Given the description of an element on the screen output the (x, y) to click on. 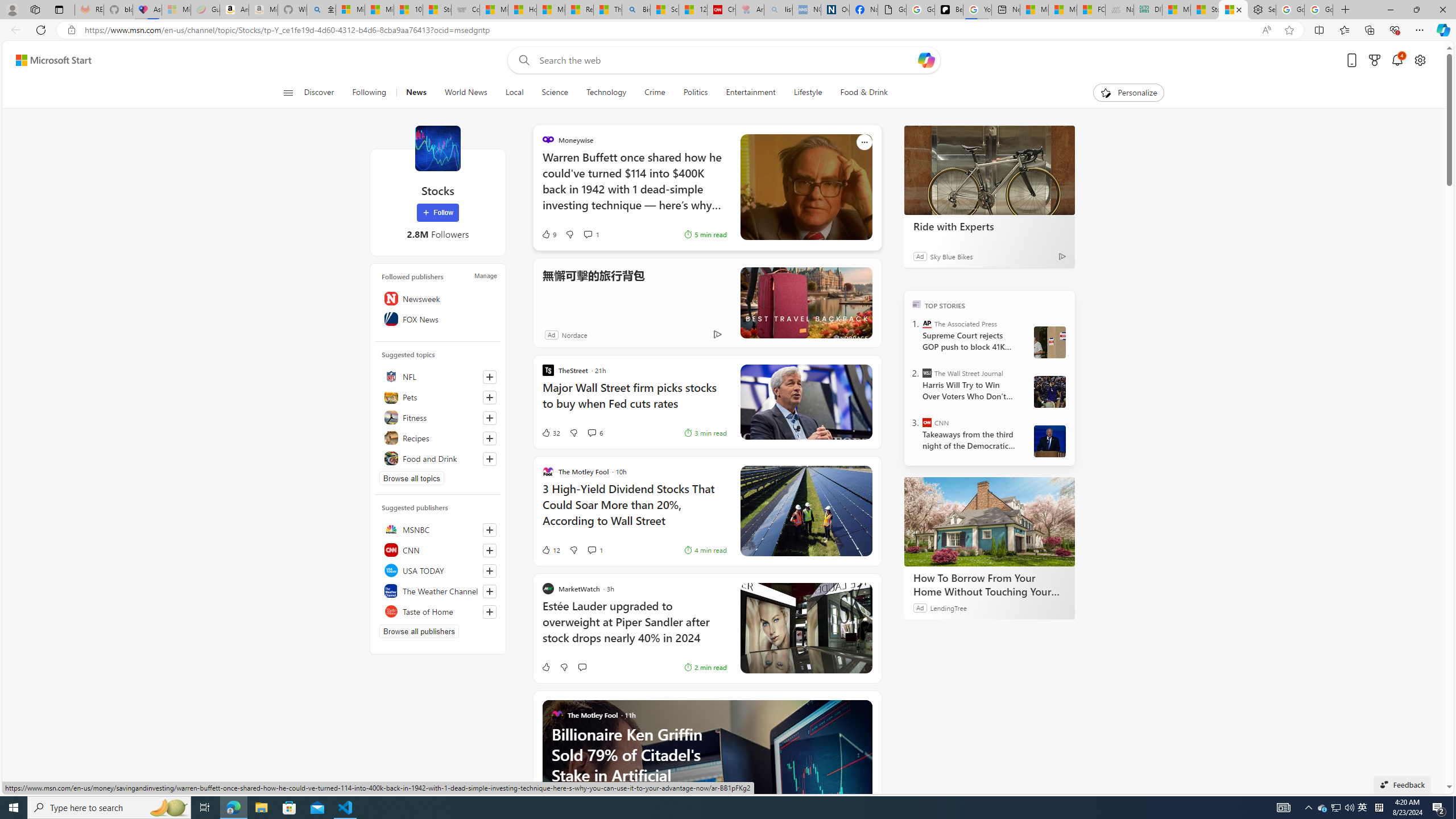
World News (465, 92)
Following (368, 92)
Nordace (575, 334)
Lifestyle (807, 92)
LendingTree (948, 607)
Dislike (563, 667)
NFL (437, 376)
How I Got Rid of Microsoft Edge's Unnecessary Features (522, 9)
